Given the description of an element on the screen output the (x, y) to click on. 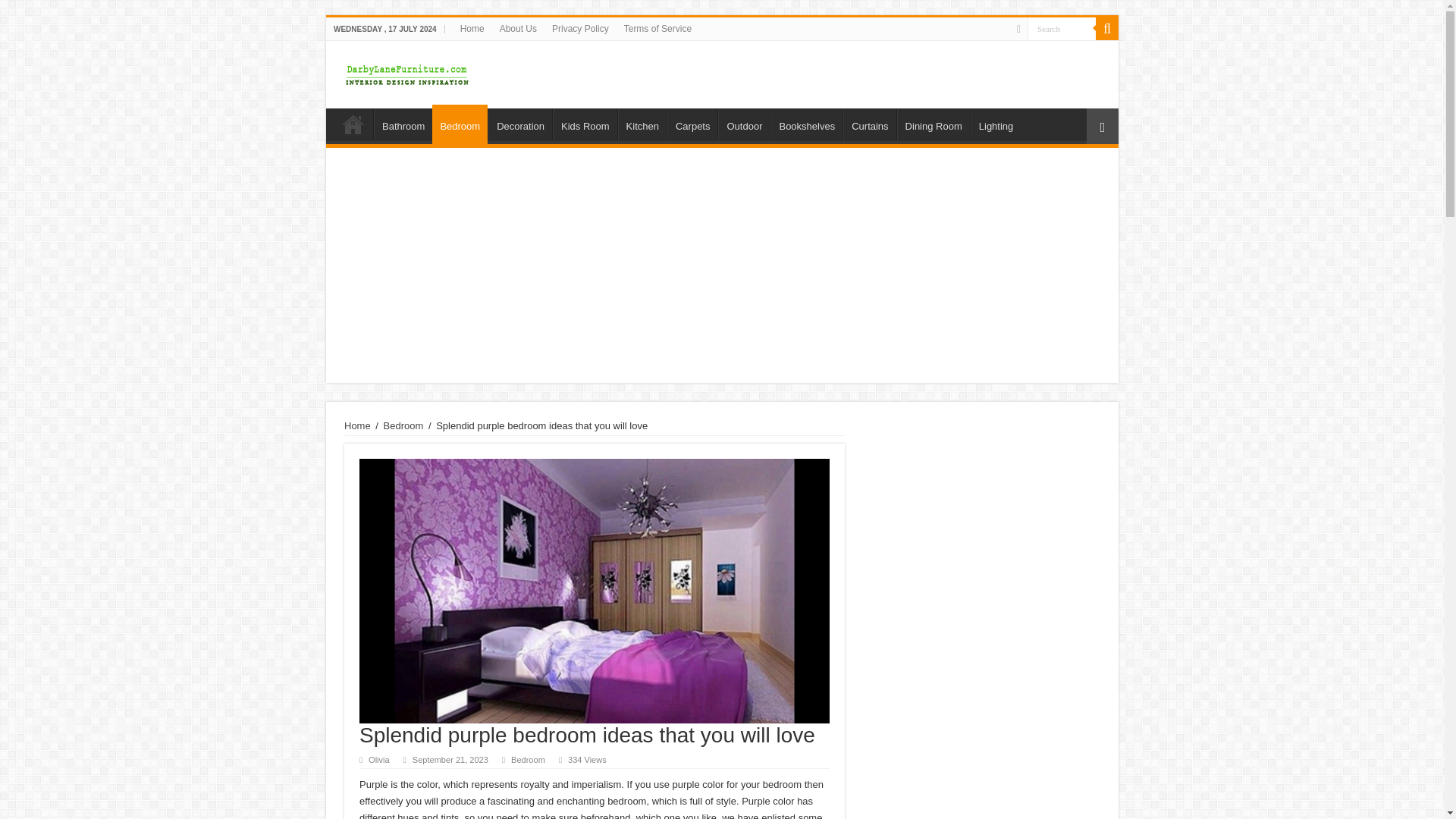
Home (357, 425)
Kitchen (641, 124)
Outdoor (743, 124)
Lighting (996, 124)
Decoration (519, 124)
Bathroom (403, 124)
About Us (518, 28)
Bedroom (527, 759)
Carpets (691, 124)
Bedroom (403, 425)
Terms of Service (656, 28)
Search (1061, 28)
Search (1061, 28)
Curtains (869, 124)
